Given the description of an element on the screen output the (x, y) to click on. 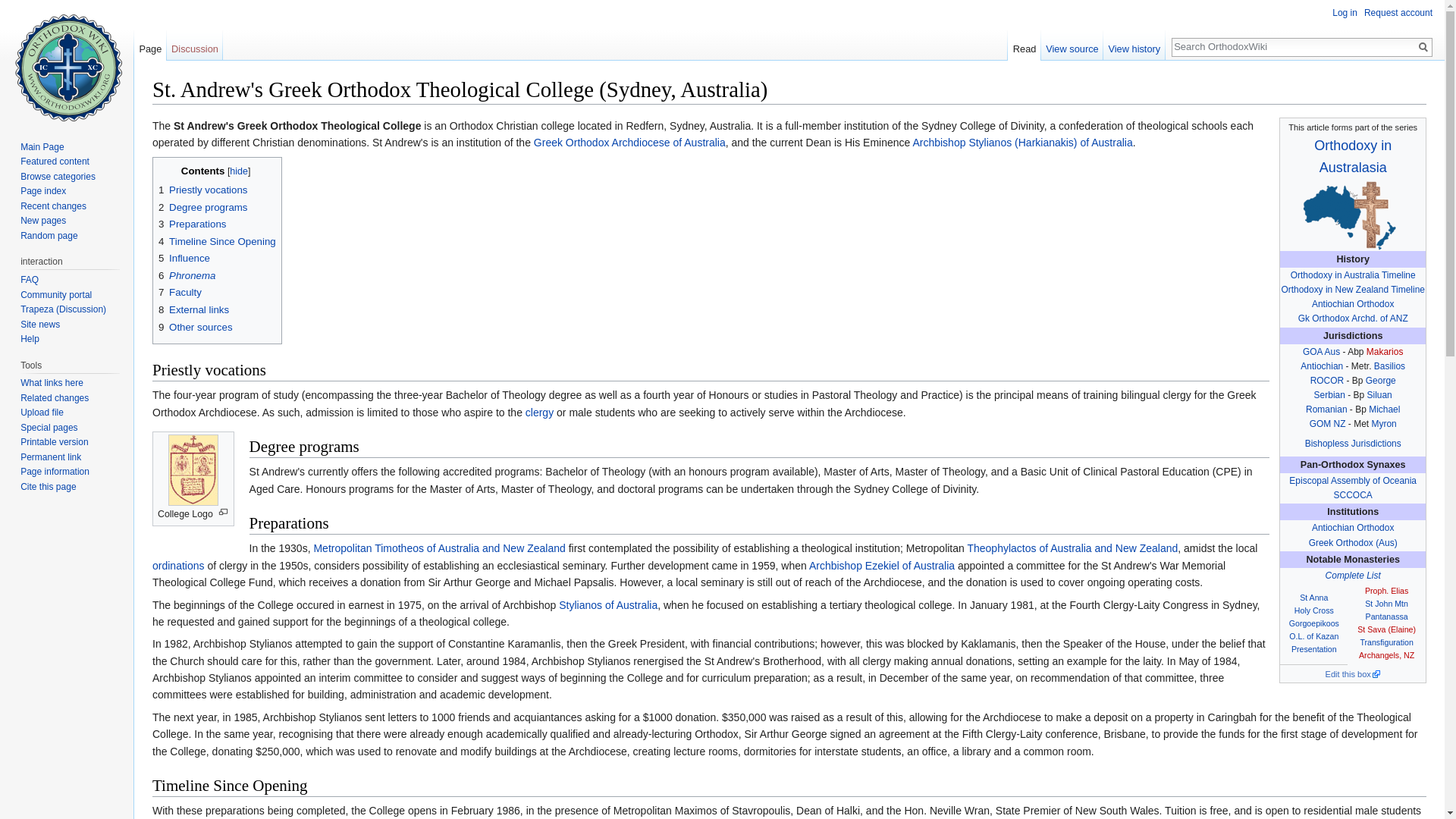
GOM NZ (1326, 423)
Antiochian Orthodox (1352, 303)
St John Mtn (1386, 603)
Australian jurisdictions without a local bishop (1352, 443)
Makarios (1385, 351)
Proph. Elias (1386, 590)
GOA Aus (1321, 351)
St Anna (1313, 596)
Orthodoxy in New Zealand Timeline (1353, 289)
